Given the description of an element on the screen output the (x, y) to click on. 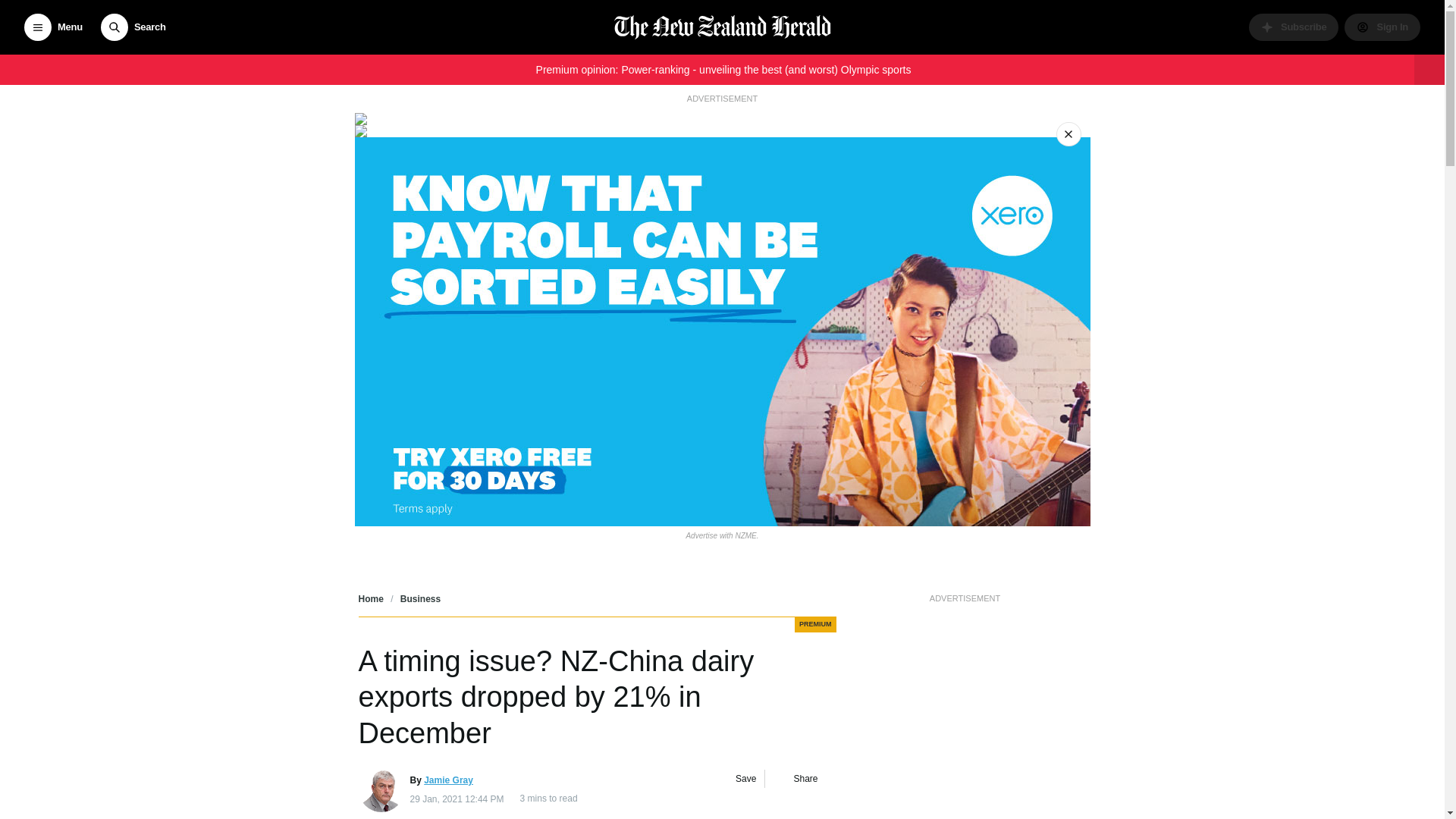
Manage your account (1382, 26)
Search (132, 26)
Menu (53, 26)
3rd party ad content (964, 712)
Subscribe (1294, 26)
Sign In (1382, 26)
